Given the description of an element on the screen output the (x, y) to click on. 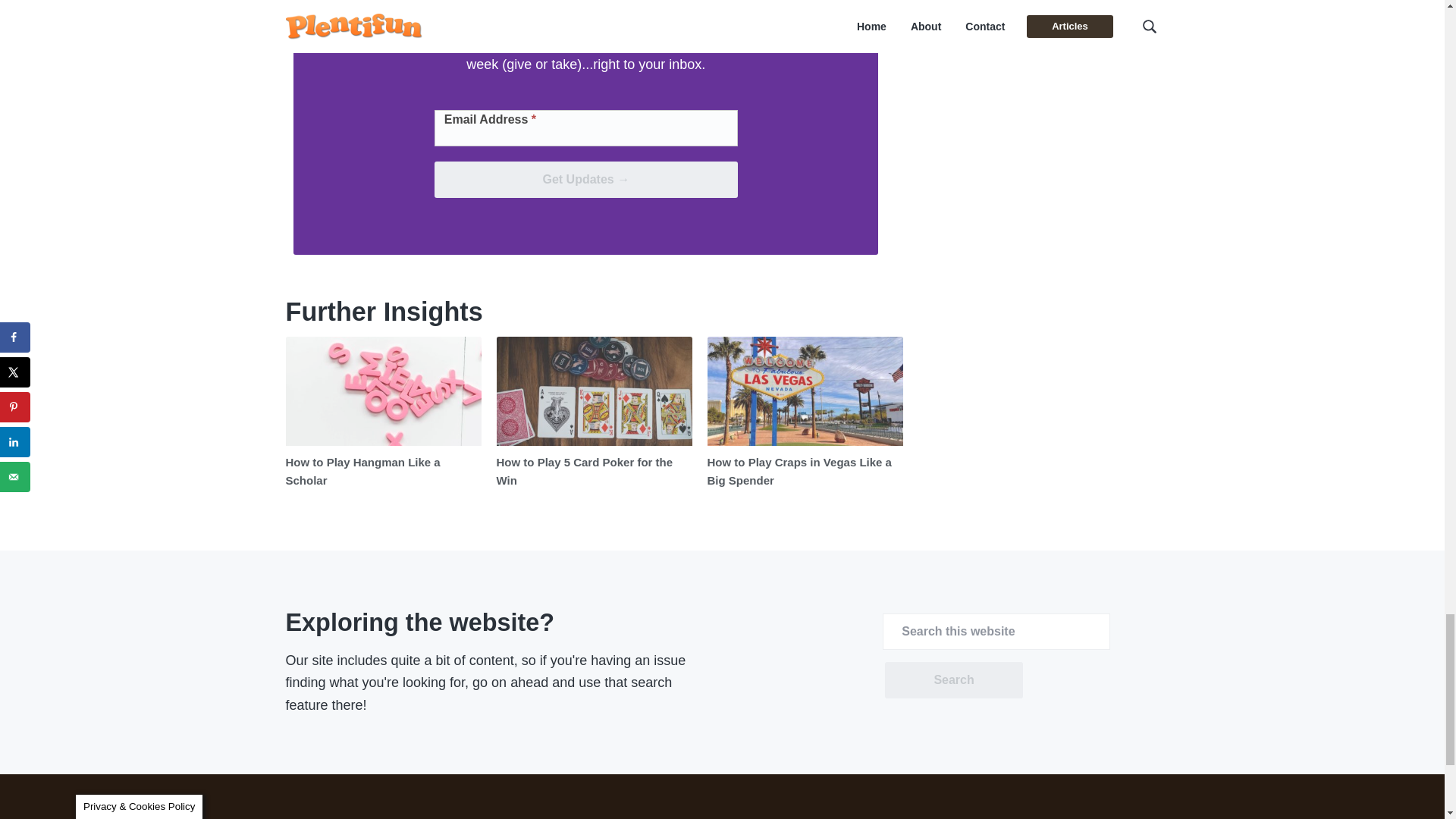
Permanent Link to How to Play Hangman Like a Scholar (382, 390)
Permanent Link to How to Play Hangman Like a Scholar (362, 470)
Permanent Link to How to Play 5 Card Poker for the Win (593, 390)
How to Play Hangman Like a Scholar (362, 470)
Permanent Link to How to Play 5 Card Poker for the Win (584, 470)
Search (953, 679)
Search (953, 679)
